Given the description of an element on the screen output the (x, y) to click on. 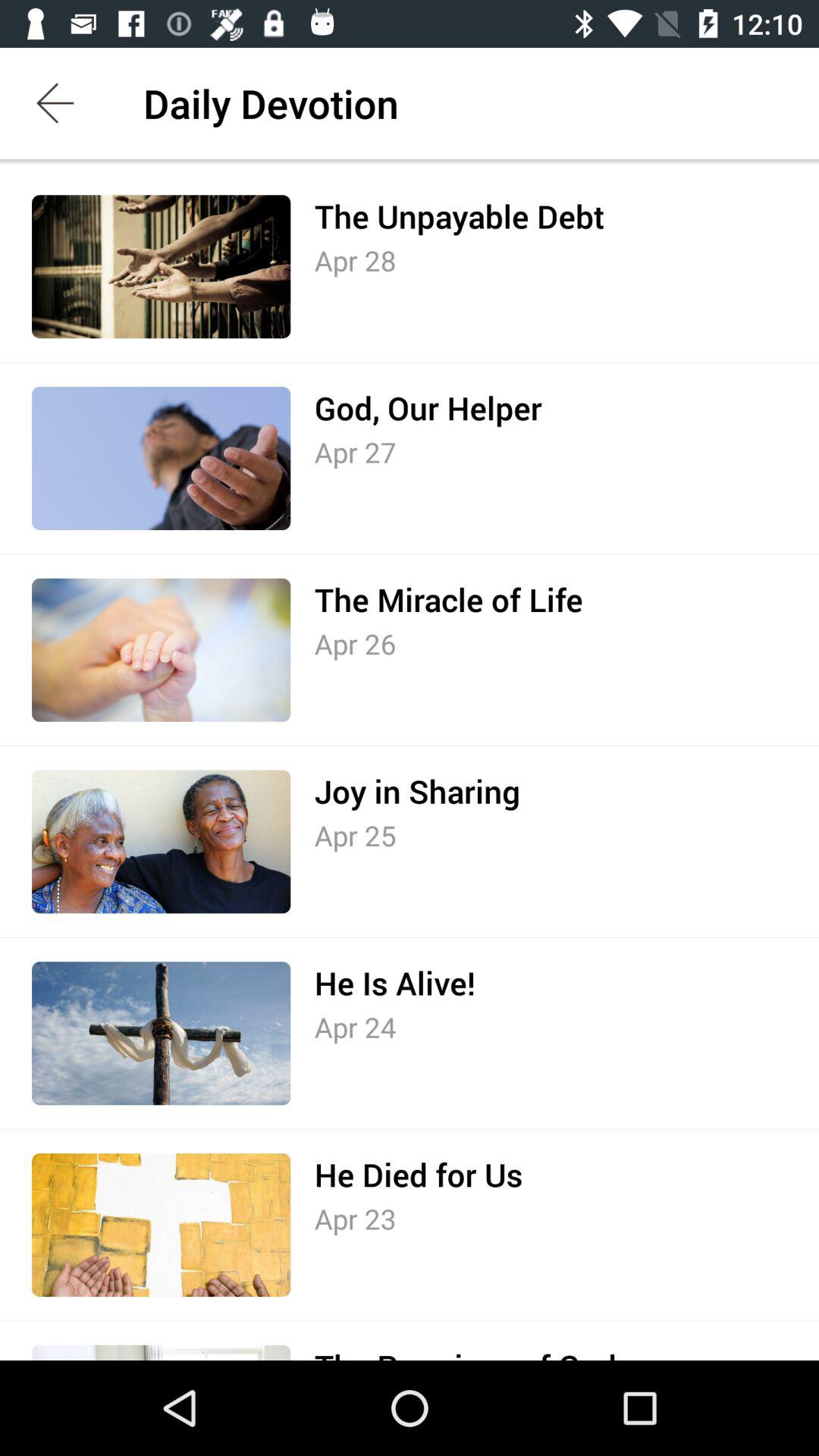
choose icon below he died for (355, 1218)
